Given the description of an element on the screen output the (x, y) to click on. 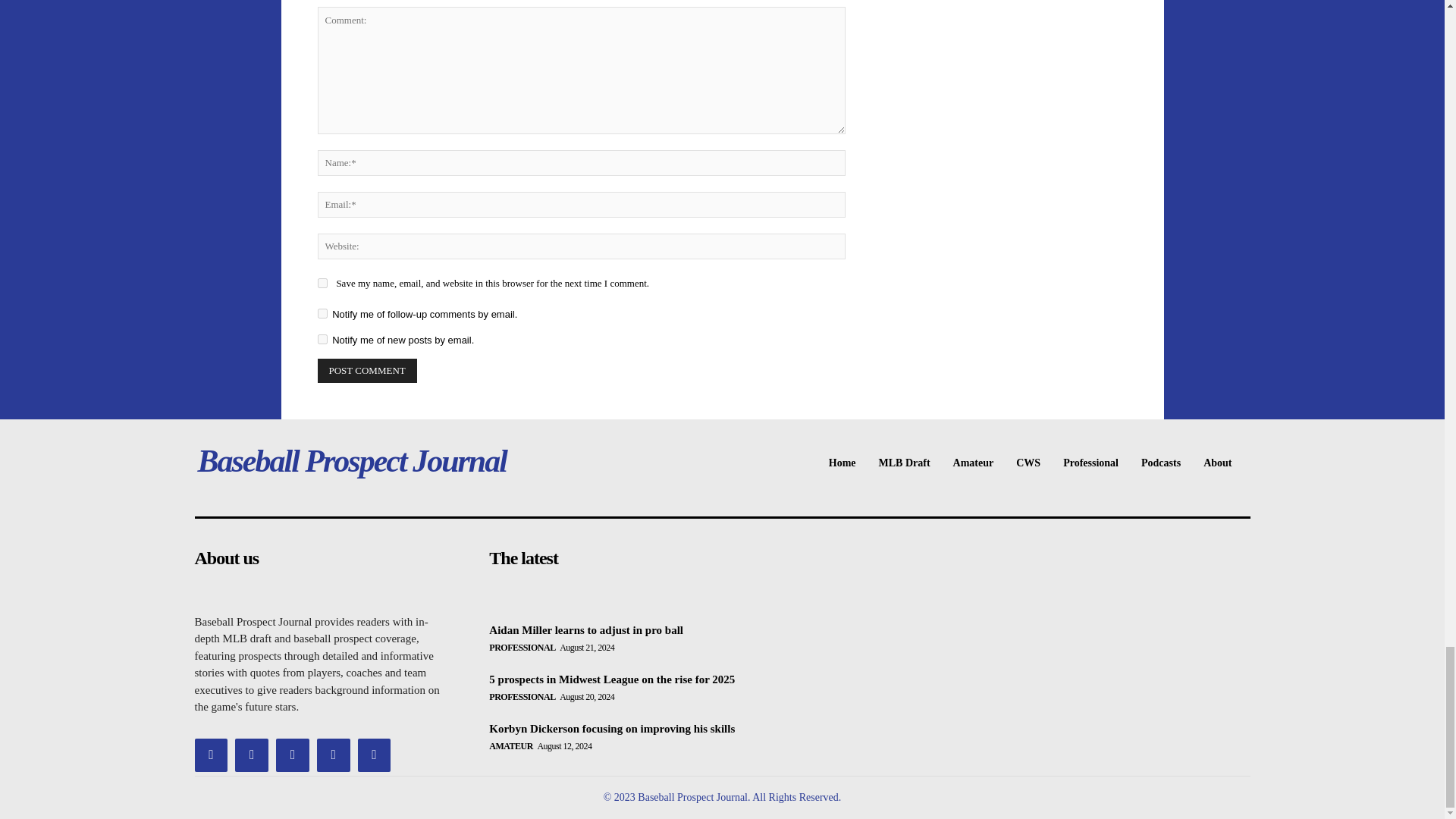
subscribe (321, 313)
subscribe (321, 338)
Post Comment (366, 370)
yes (321, 283)
